Given the description of an element on the screen output the (x, y) to click on. 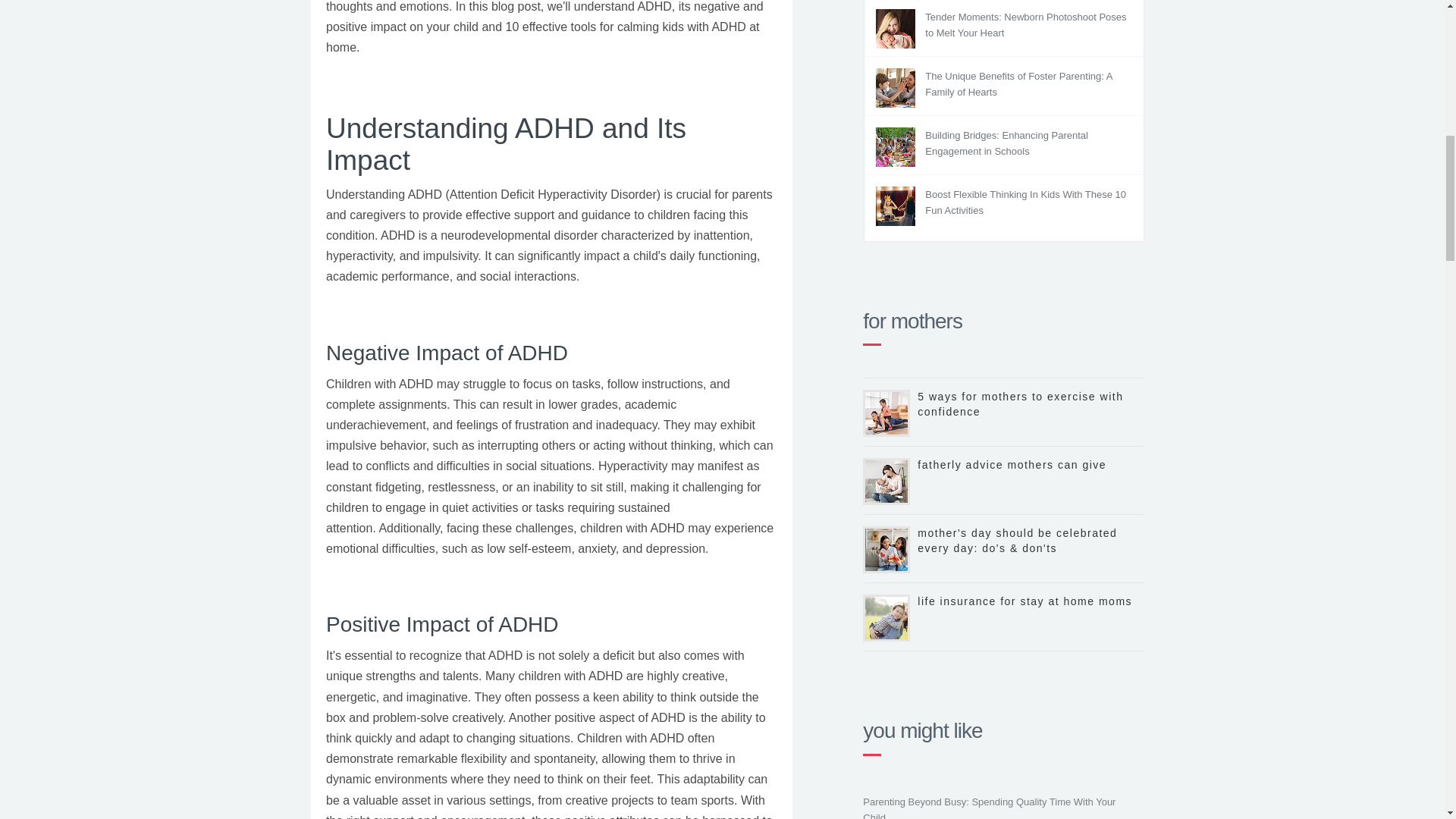
The Unique Benefits of Foster Parenting: A Family of Hearts (1018, 84)
Tender Moments: Newborn Photoshoot Poses to Melt Your Heart (1024, 24)
Building Bridges: Enhancing Parental Engagement in Schools (1005, 142)
